Given the description of an element on the screen output the (x, y) to click on. 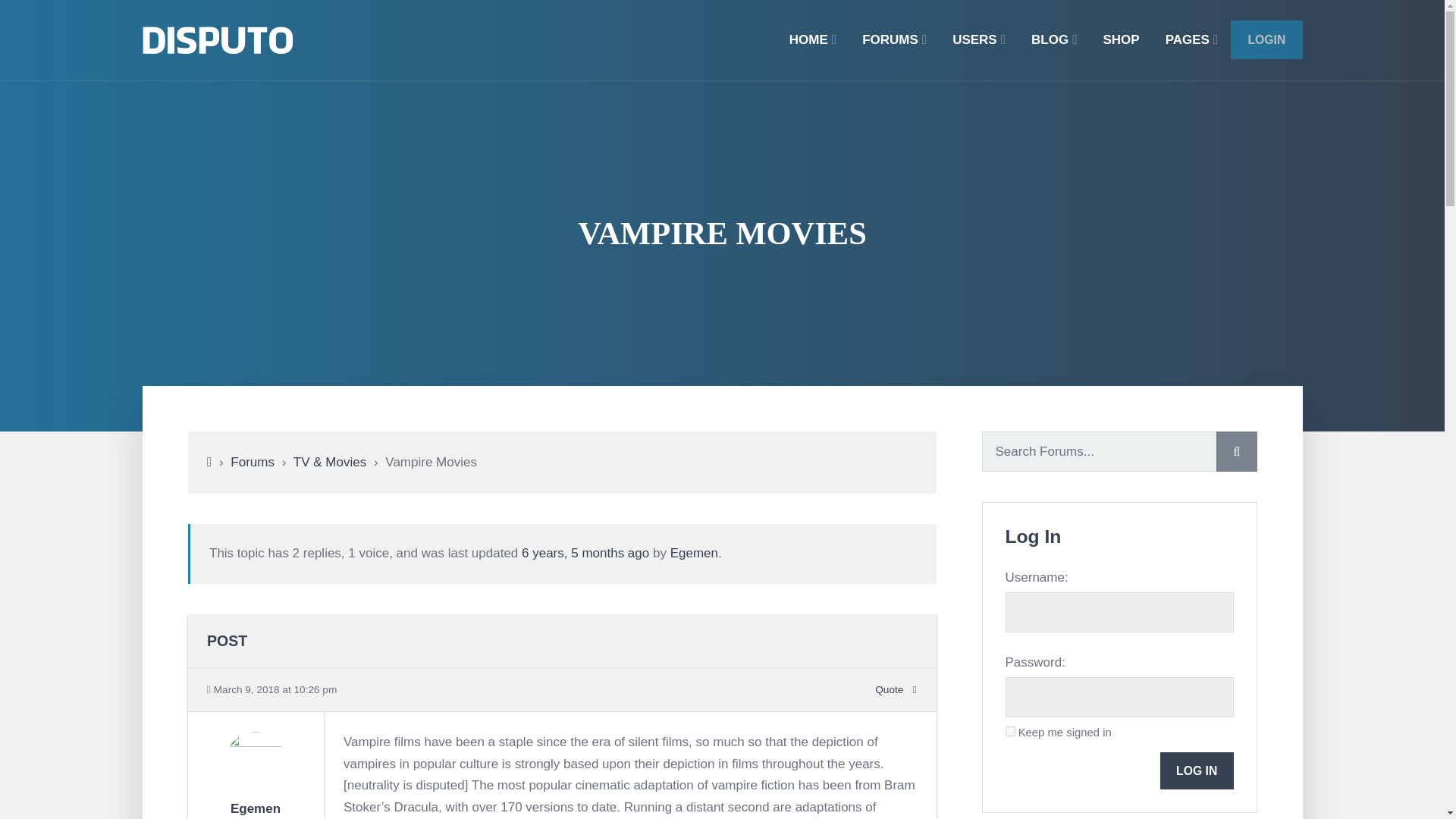
forever (1010, 731)
LOGIN (1265, 39)
View Egemen's profile (255, 808)
USERS (978, 40)
HOME (812, 40)
Reply To: Vampire Movies (585, 553)
PAGES (1192, 40)
View Egemen's profile (255, 786)
View Egemen's profile (693, 553)
Forums (252, 462)
